Given the description of an element on the screen output the (x, y) to click on. 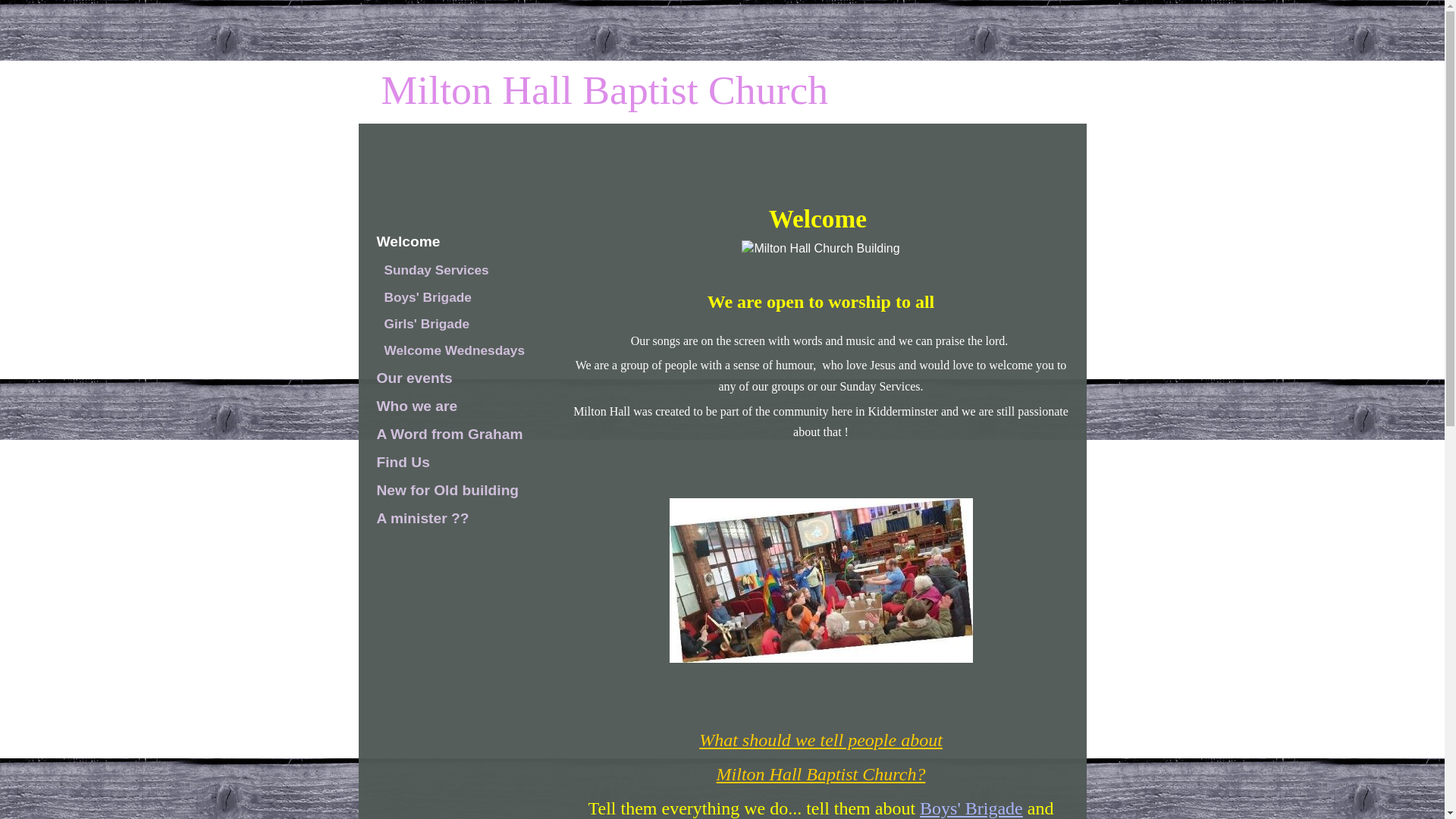
Milton Hall Church Building (820, 248)
Cafe Church (820, 579)
A Word from Graham (449, 434)
Welcome Wednesdays (453, 350)
Boys' Brigade (453, 296)
Sunday Services (453, 269)
Our events (449, 378)
Boys' Brigade (971, 808)
Girls' Brigade (453, 323)
A minister ?? (449, 518)
Who we are (449, 406)
Find Us (449, 462)
New for Old building (449, 490)
